Given the description of an element on the screen output the (x, y) to click on. 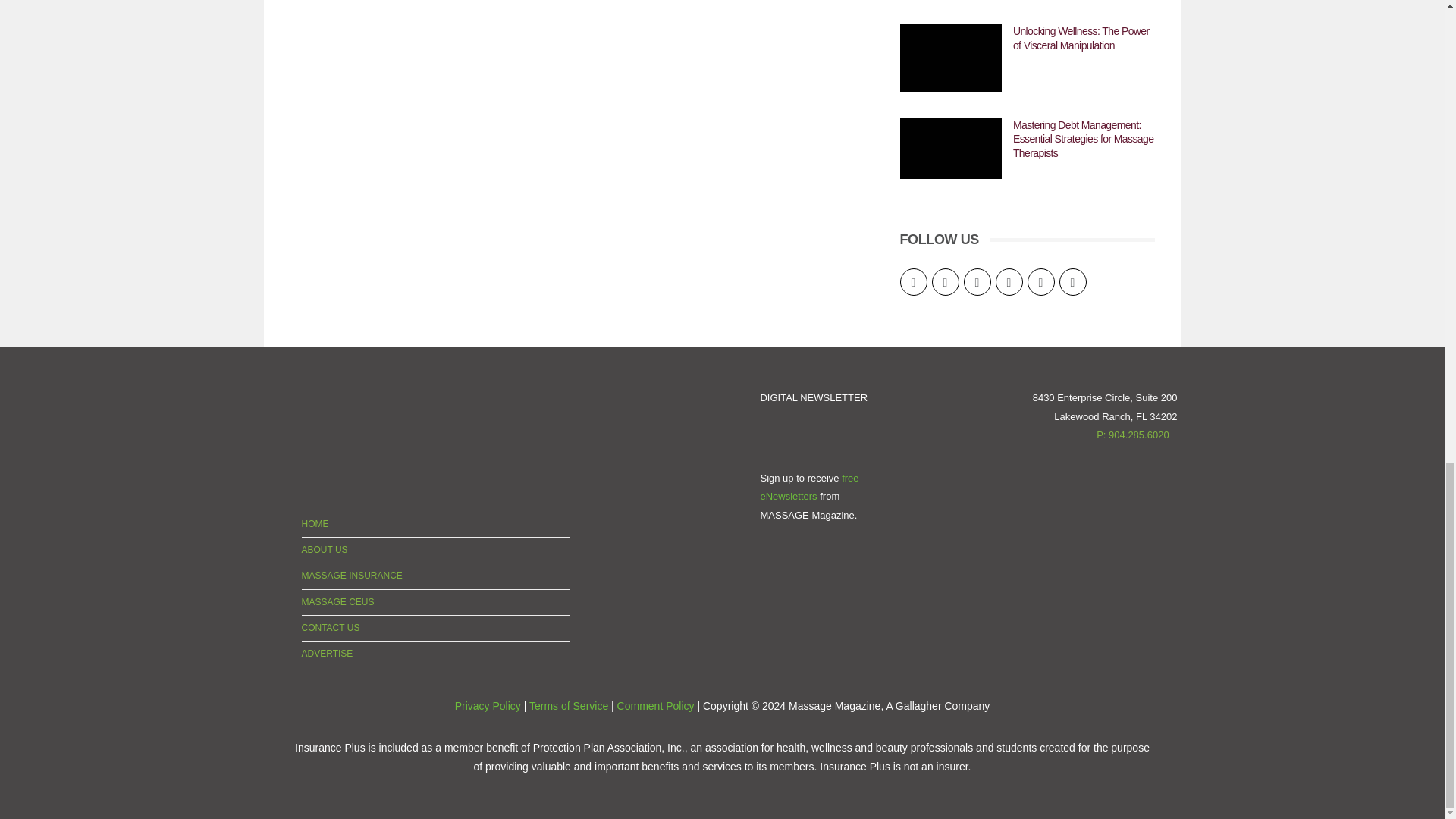
MASSAGE Magazine (327, 434)
Unlocking Wellness: The Power of Visceral Manipulation (950, 57)
Comment Policy (655, 705)
